Given the description of an element on the screen output the (x, y) to click on. 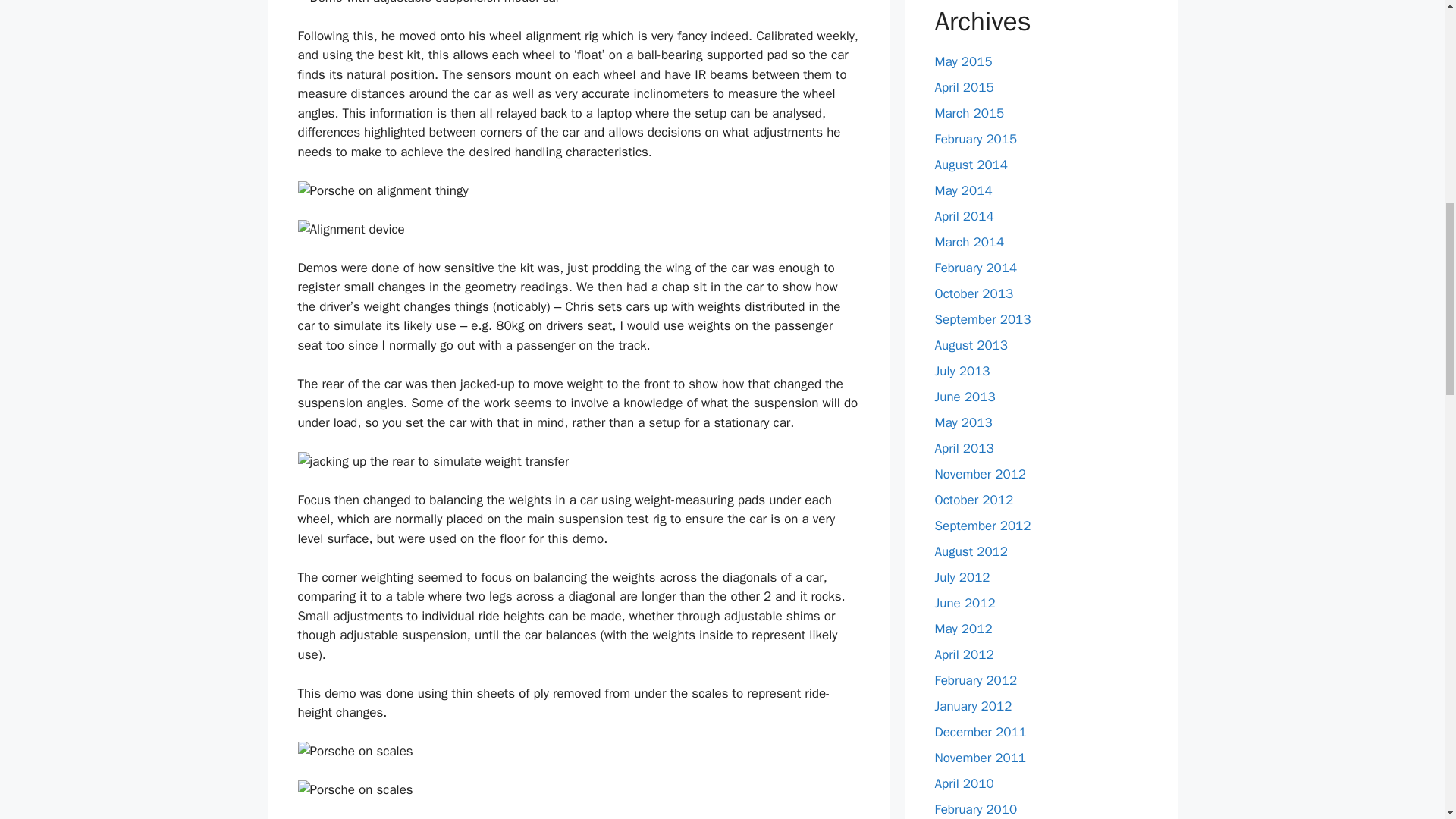
September 2013 (982, 318)
February 2014 (975, 267)
February 2015 (975, 138)
August 2014 (970, 163)
March 2015 (969, 112)
August 2013 (970, 344)
July 2013 (962, 370)
May 2015 (962, 60)
April 2015 (963, 86)
April 2014 (963, 215)
